Given the description of an element on the screen output the (x, y) to click on. 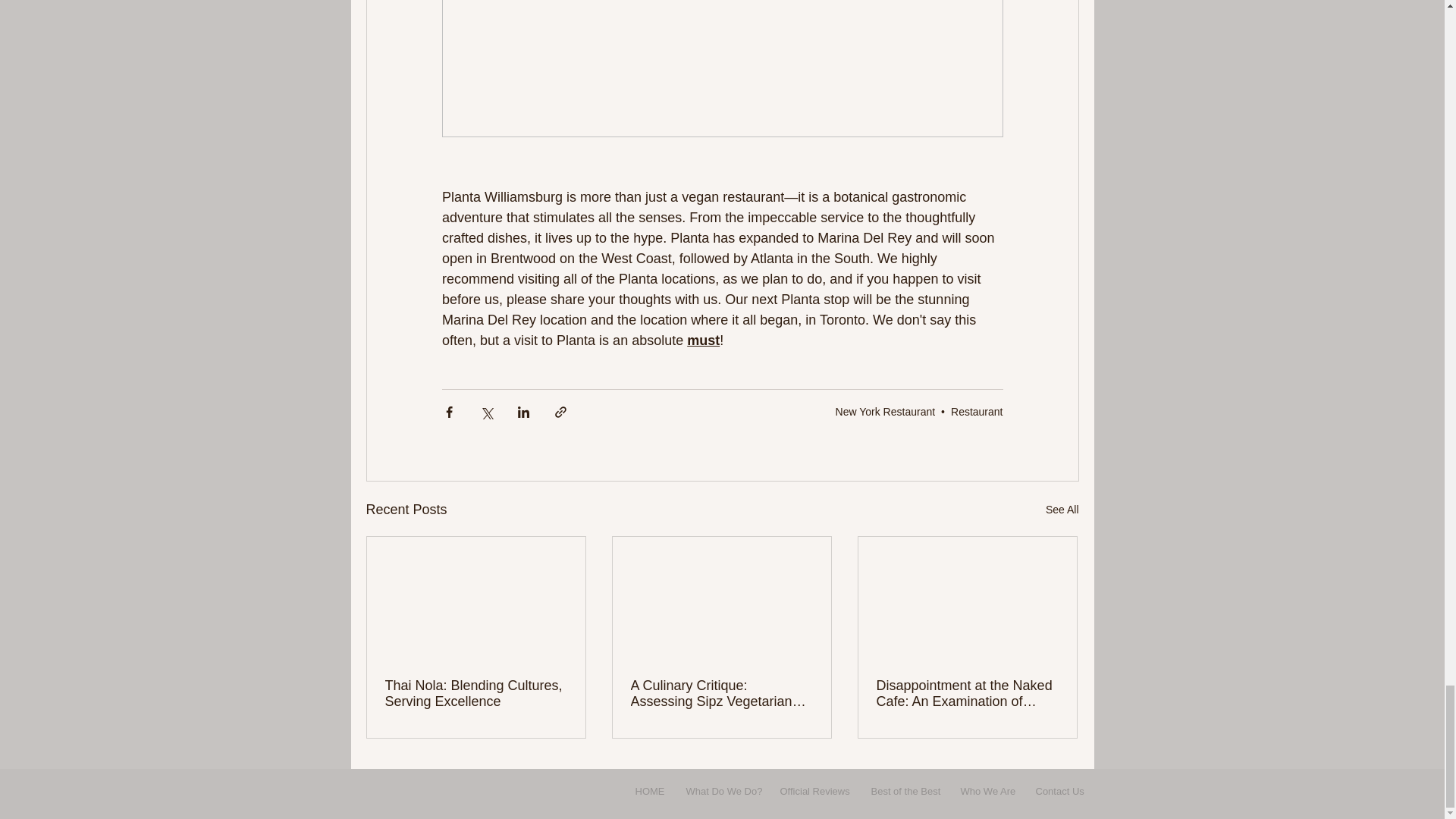
Restaurant (976, 411)
See All (1061, 509)
New York Restaurant (885, 411)
